Given the description of an element on the screen output the (x, y) to click on. 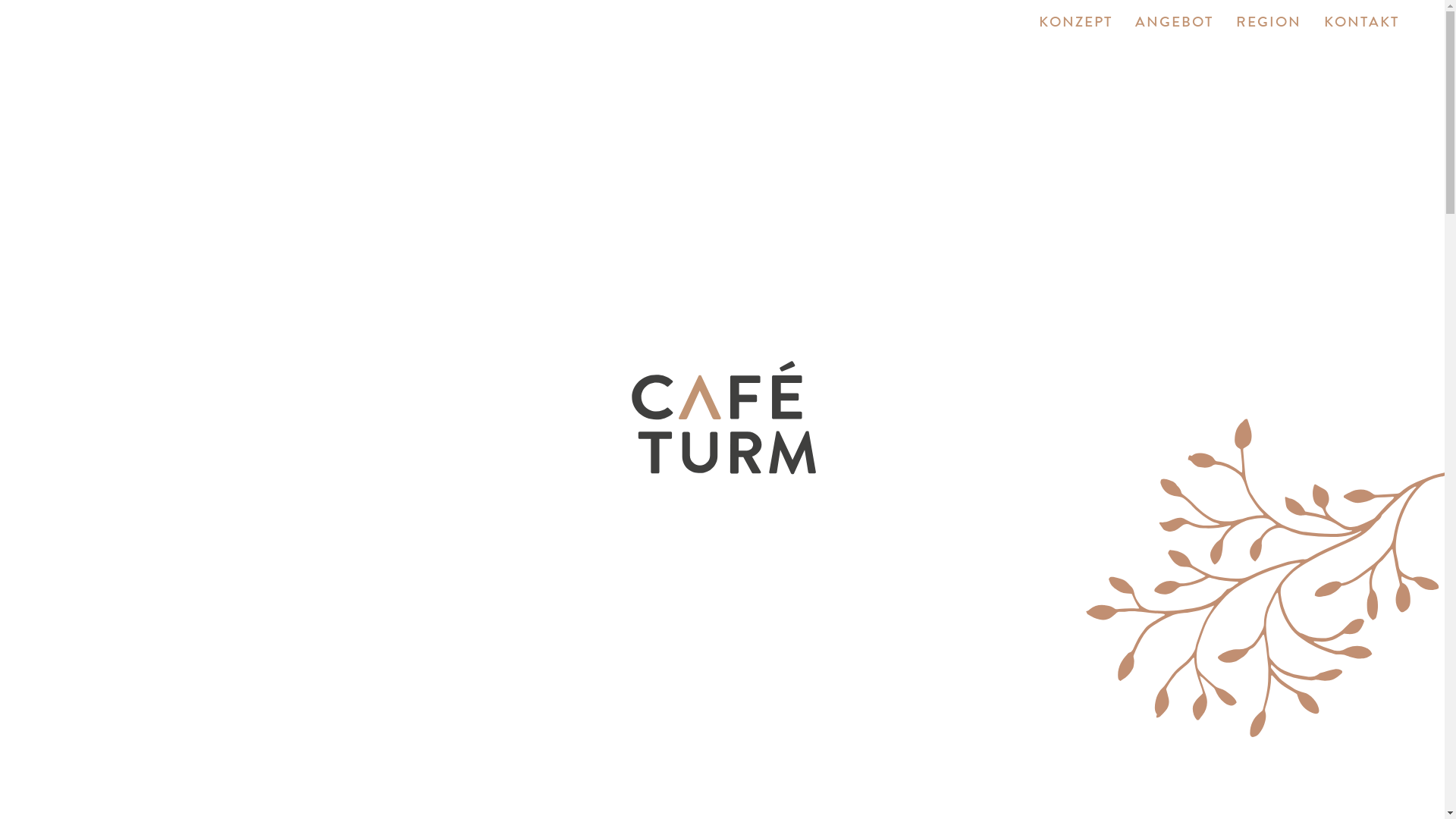
KONTAKT Element type: text (1361, 22)
ANGEBOT Element type: text (1174, 22)
REGION Element type: text (1268, 22)
KONZEPT Element type: text (1075, 22)
